Given the description of an element on the screen output the (x, y) to click on. 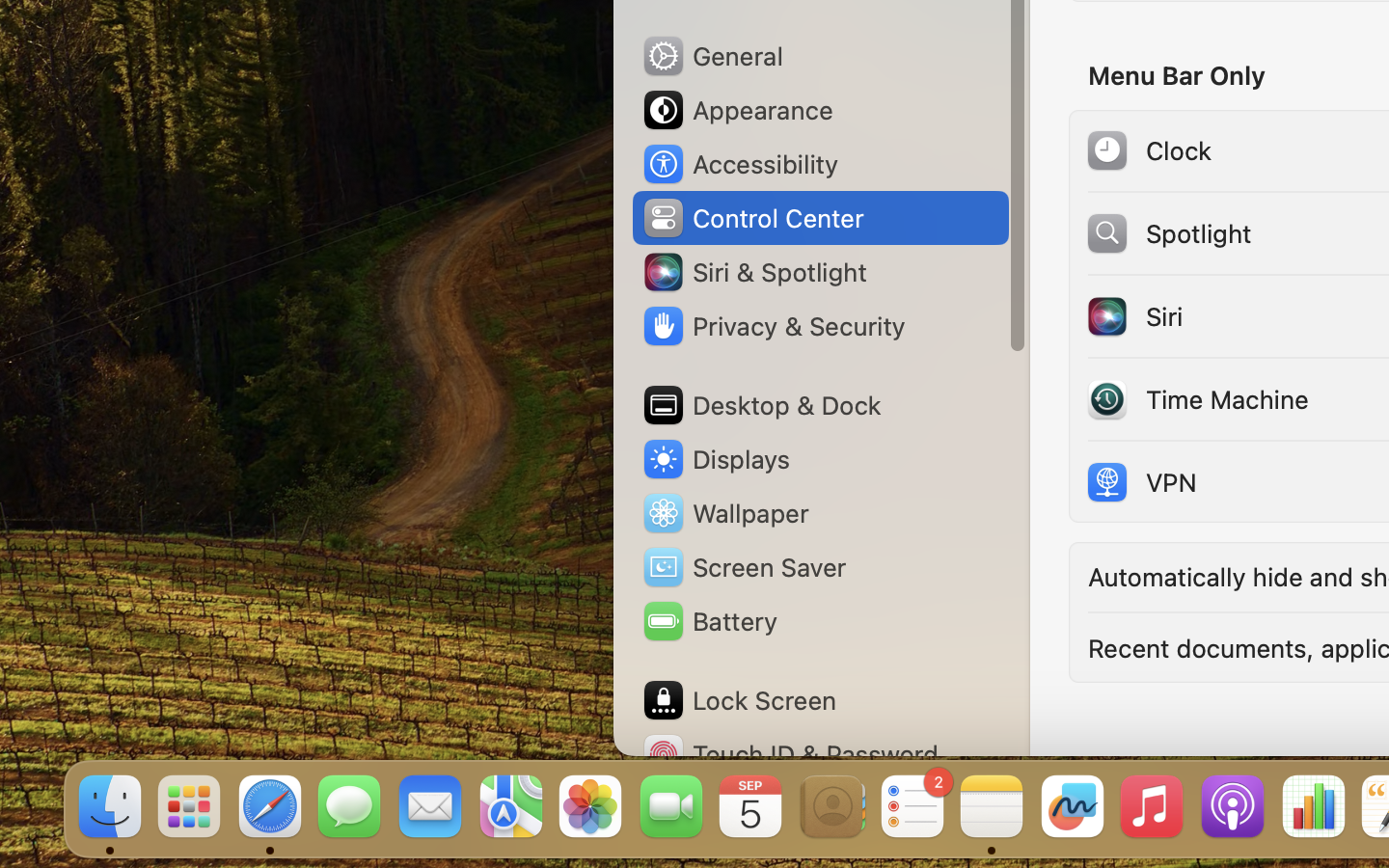
Siri Element type: AXStaticText (1133, 316)
Screen Saver Element type: AXStaticText (743, 566)
Appearance Element type: AXStaticText (736, 109)
Wallpaper Element type: AXStaticText (724, 512)
Lock Screen Element type: AXStaticText (738, 700)
